Given the description of an element on the screen output the (x, y) to click on. 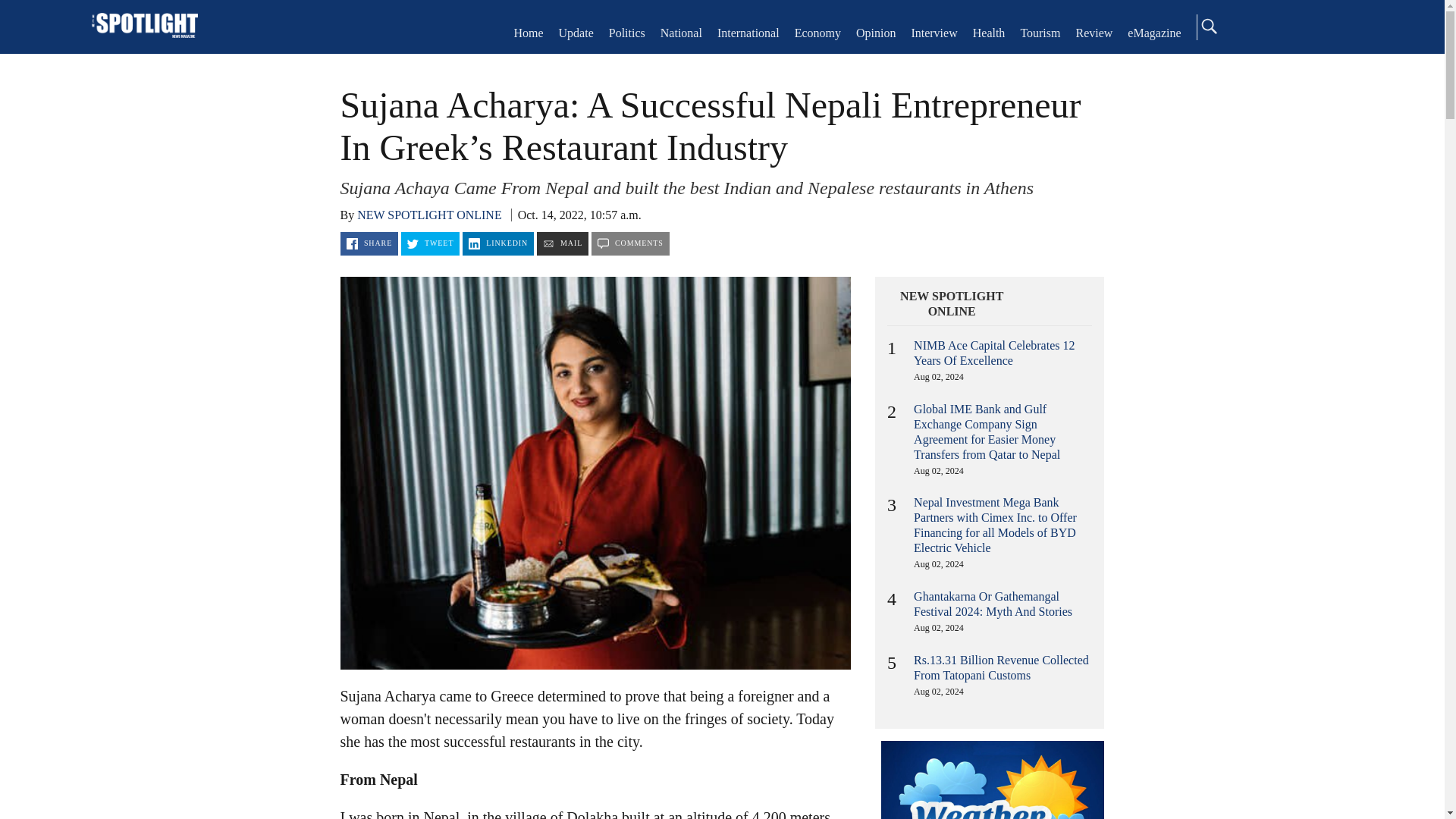
Search (1208, 26)
LINKEDIN (498, 243)
Economy (817, 32)
SHARE (368, 243)
MAIL (563, 243)
NEW SPOTLIGHT ONLINE (951, 304)
Ghantakarna Or Gathemangal Festival 2024: Myth And Stories (992, 603)
Review (1093, 32)
National (681, 32)
Home (144, 26)
